Given the description of an element on the screen output the (x, y) to click on. 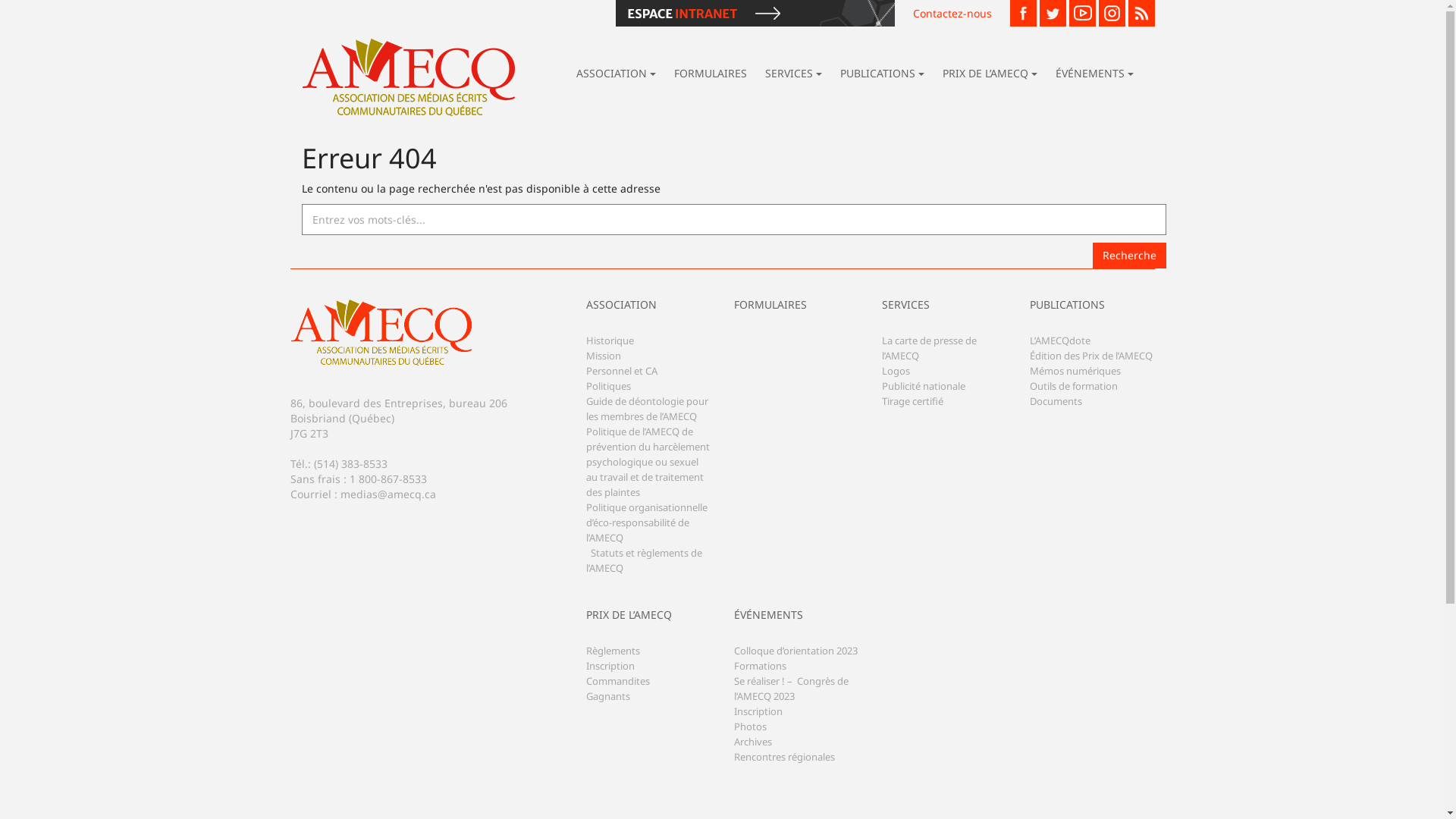
Politiques Element type: text (607, 397)
Contactez-nous Element type: text (952, 13)
Commandites Element type: text (617, 692)
Inscription Element type: text (609, 676)
ASSOCIATION Element type: text (647, 315)
Outils de formation Element type: text (1073, 397)
FORMULAIRES Element type: text (796, 315)
Archives Element type: text (752, 752)
FORMULAIRES Element type: text (709, 74)
Photos Element type: text (750, 737)
Mission Element type: text (602, 366)
PUBLICATIONS Element type: text (1091, 315)
Recherche Element type: text (1128, 255)
Espace Intranet Element type: hover (756, 13)
Gagnants Element type: text (607, 707)
Formations Element type: text (760, 676)
SERVICES Element type: text (792, 74)
Personnel et CA Element type: text (620, 382)
Documents Element type: text (1055, 412)
SERVICES Element type: text (943, 315)
ASSOCIATION Element type: text (616, 74)
Inscription Element type: text (758, 722)
Historique Element type: text (609, 351)
PUBLICATIONS Element type: text (882, 74)
Logos Element type: text (895, 382)
